Given the description of an element on the screen output the (x, y) to click on. 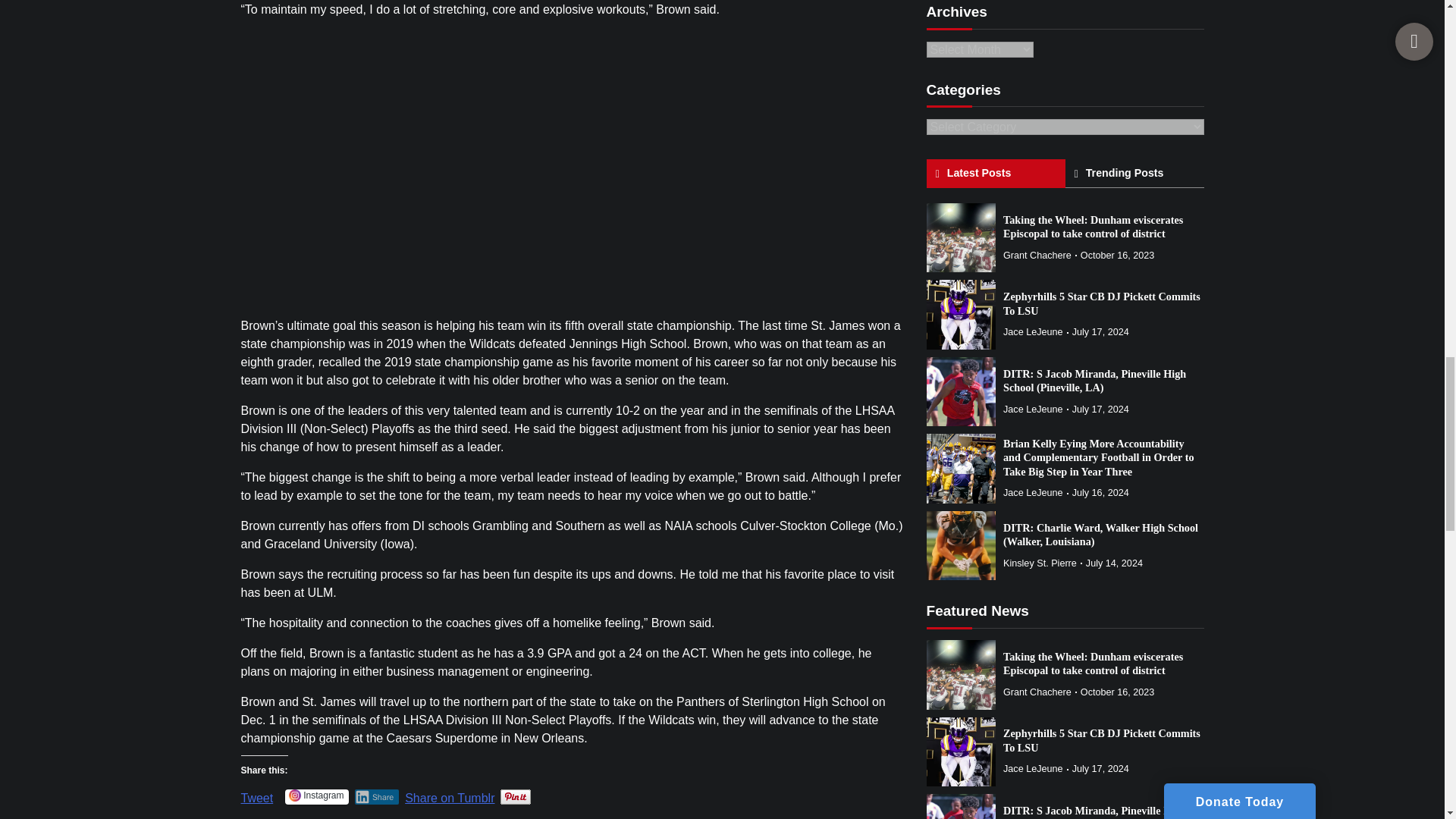
Instagram (316, 796)
Tweet (257, 792)
Share (376, 796)
Share on Tumblr (449, 792)
Click to share on Instagram (316, 796)
Share on Tumblr (449, 792)
